Given the description of an element on the screen output the (x, y) to click on. 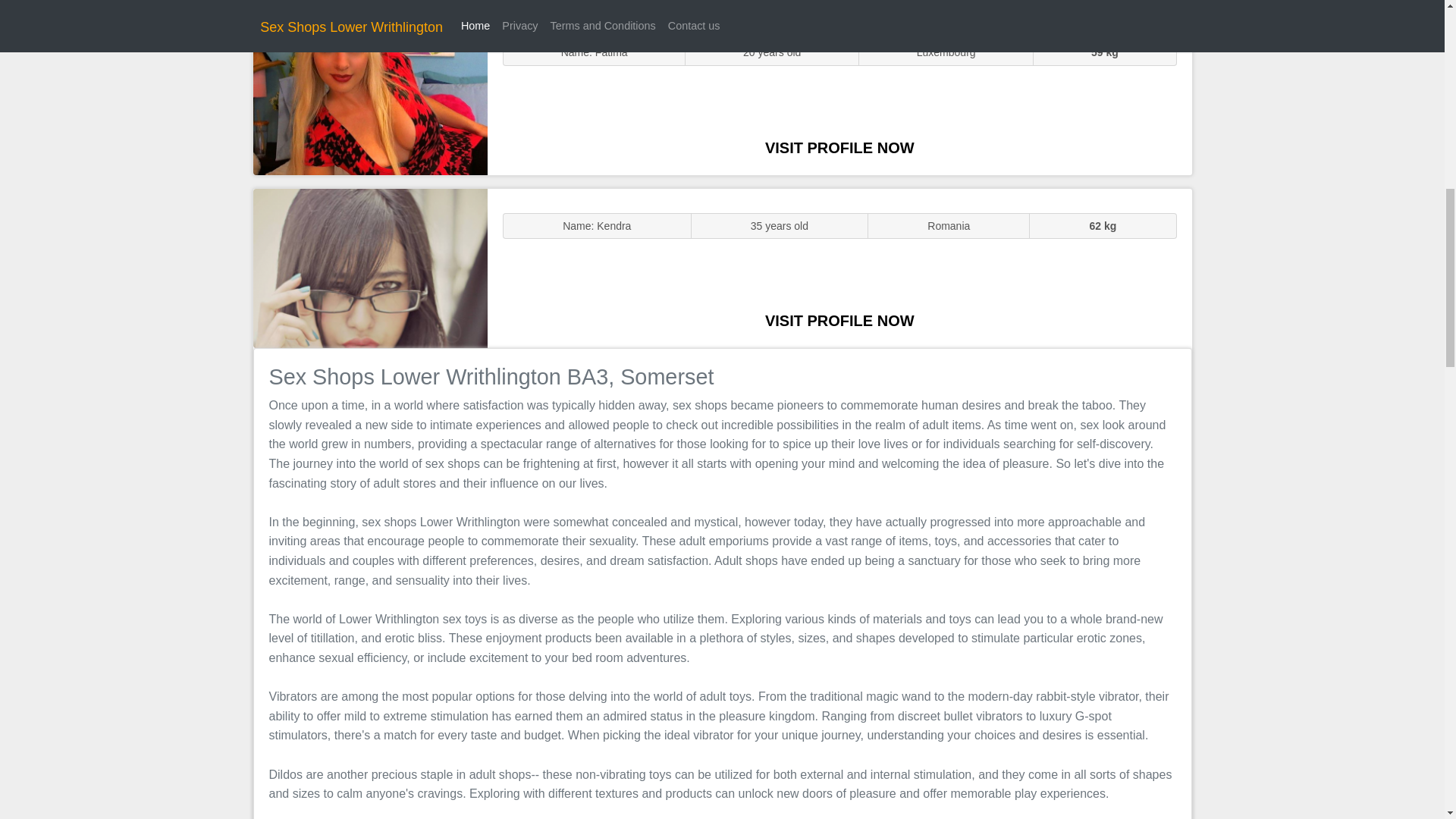
Massage (370, 267)
VISIT PROFILE NOW (839, 147)
Sluts (370, 94)
VISIT PROFILE NOW (839, 320)
